Given the description of an element on the screen output the (x, y) to click on. 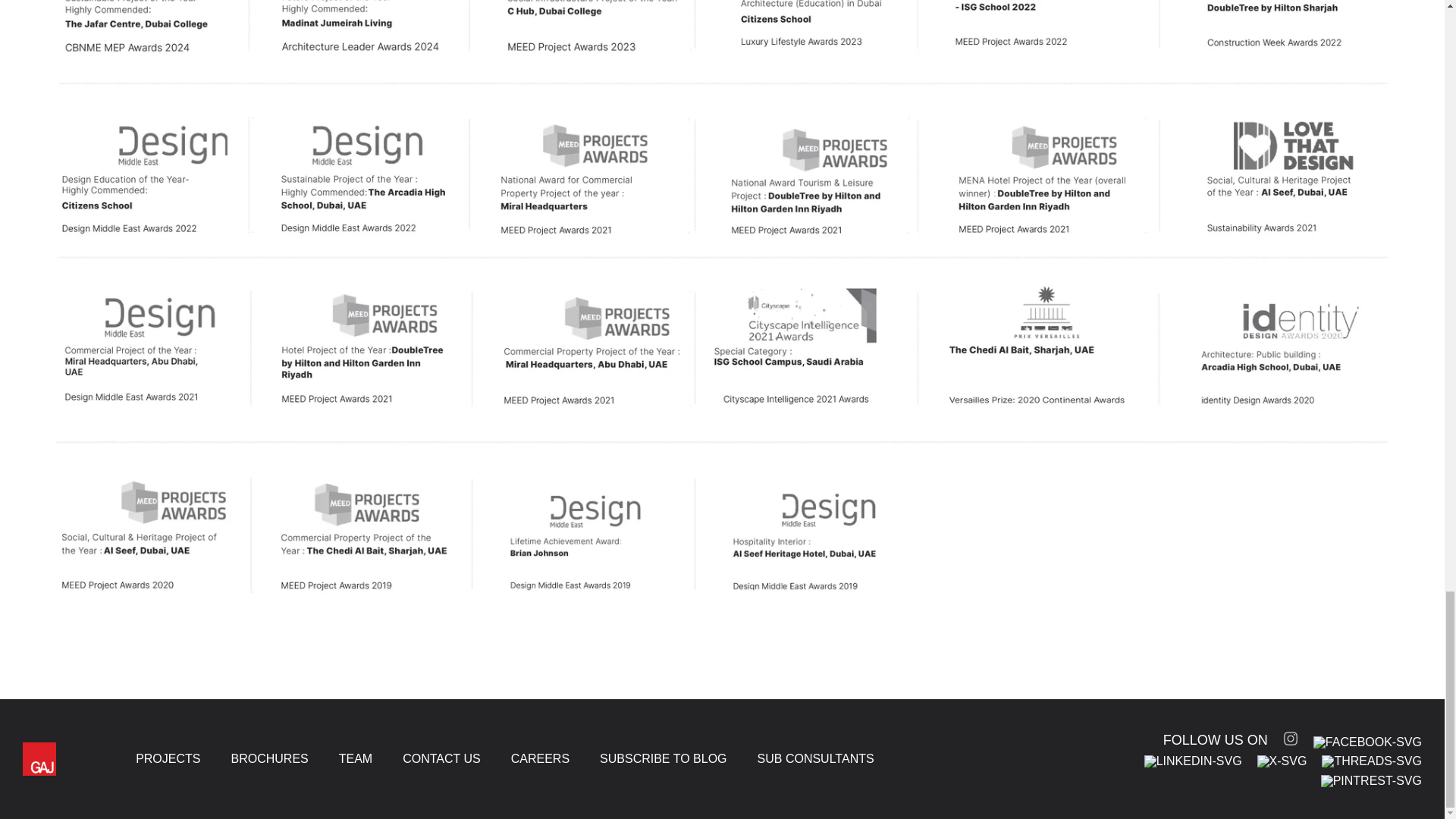
CONTACT US (441, 759)
TEAM (355, 759)
SUBSCRIBE TO BLOG (662, 759)
BROCHURES (268, 759)
CAREERS (540, 759)
SUB CONSULTANTS (816, 759)
PROJECTS (167, 759)
